Given the description of an element on the screen output the (x, y) to click on. 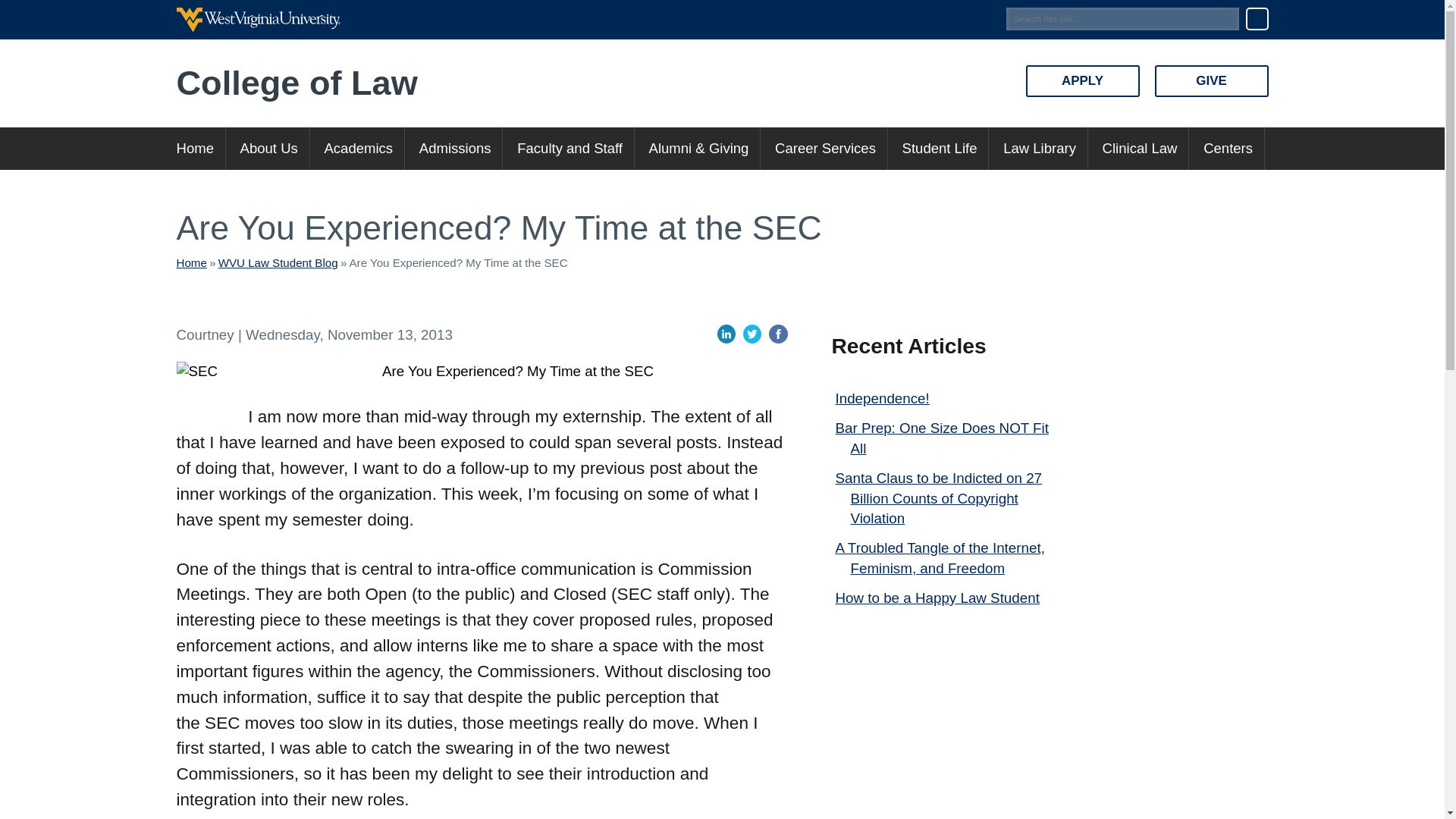
Home (191, 262)
About Us (269, 148)
APPLY (1081, 81)
Bar Prep: One Size Does NOT Fit All (941, 437)
Skip to main content (214, 17)
Centers (1228, 148)
Law Library (1039, 148)
Student Life (940, 148)
Admissions (454, 148)
Faculty and Staff (569, 148)
WVU Law Student Blog (277, 262)
Career Services (825, 148)
Home (200, 148)
Academics (358, 148)
